Given the description of an element on the screen output the (x, y) to click on. 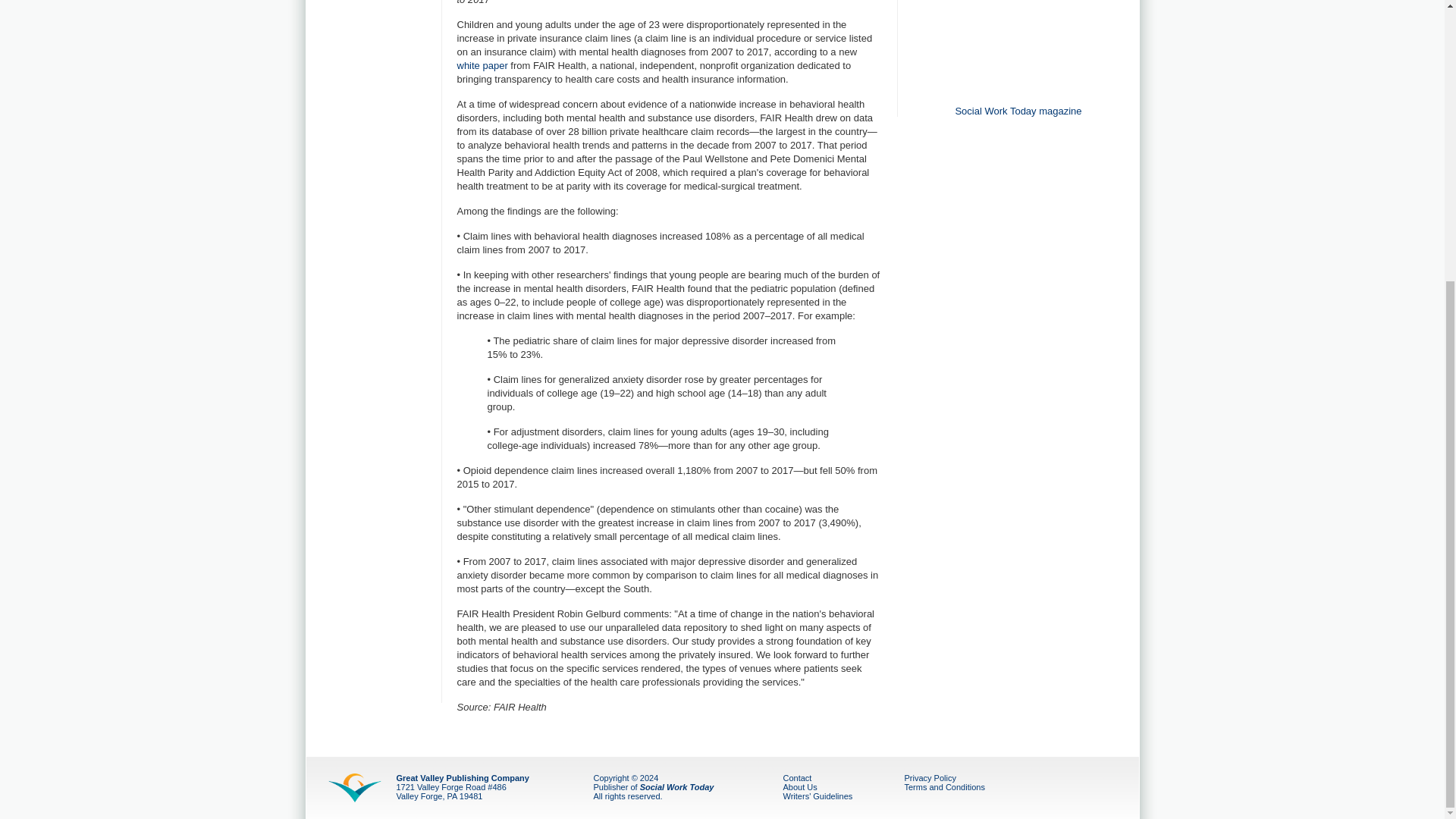
Privacy Policy (929, 777)
Contact (796, 777)
About Us (799, 786)
Social Work Today magazine (1018, 111)
Writers' Guidelines (817, 795)
Terms and Conditions (944, 786)
3rd party ad content (1018, 47)
white paper (481, 65)
